Given the description of an element on the screen output the (x, y) to click on. 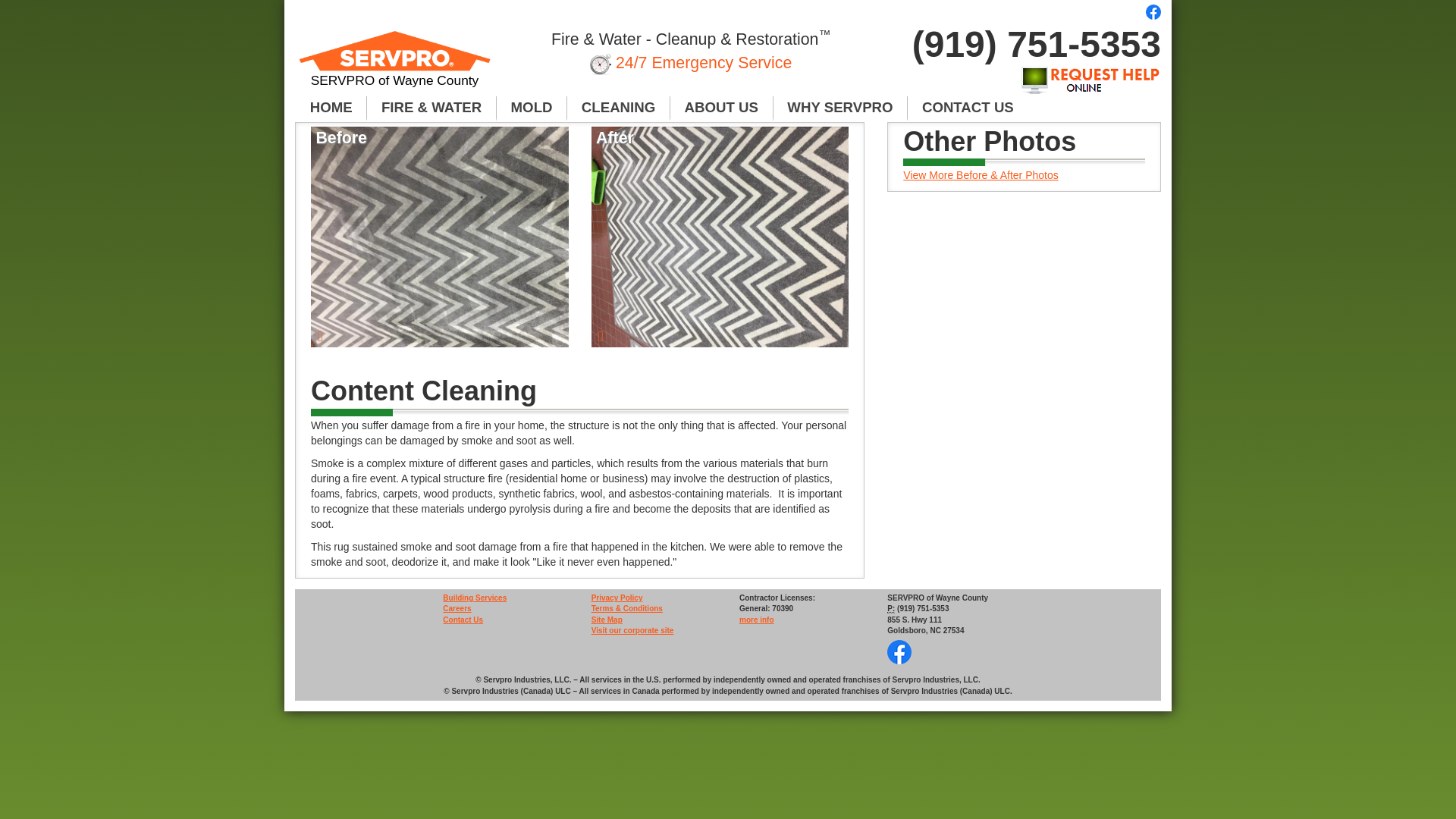
SERVPRO of Wayne County (395, 65)
MOLD (531, 108)
ABOUT US (721, 108)
CLEANING (618, 108)
HOME (330, 108)
